Given the description of an element on the screen output the (x, y) to click on. 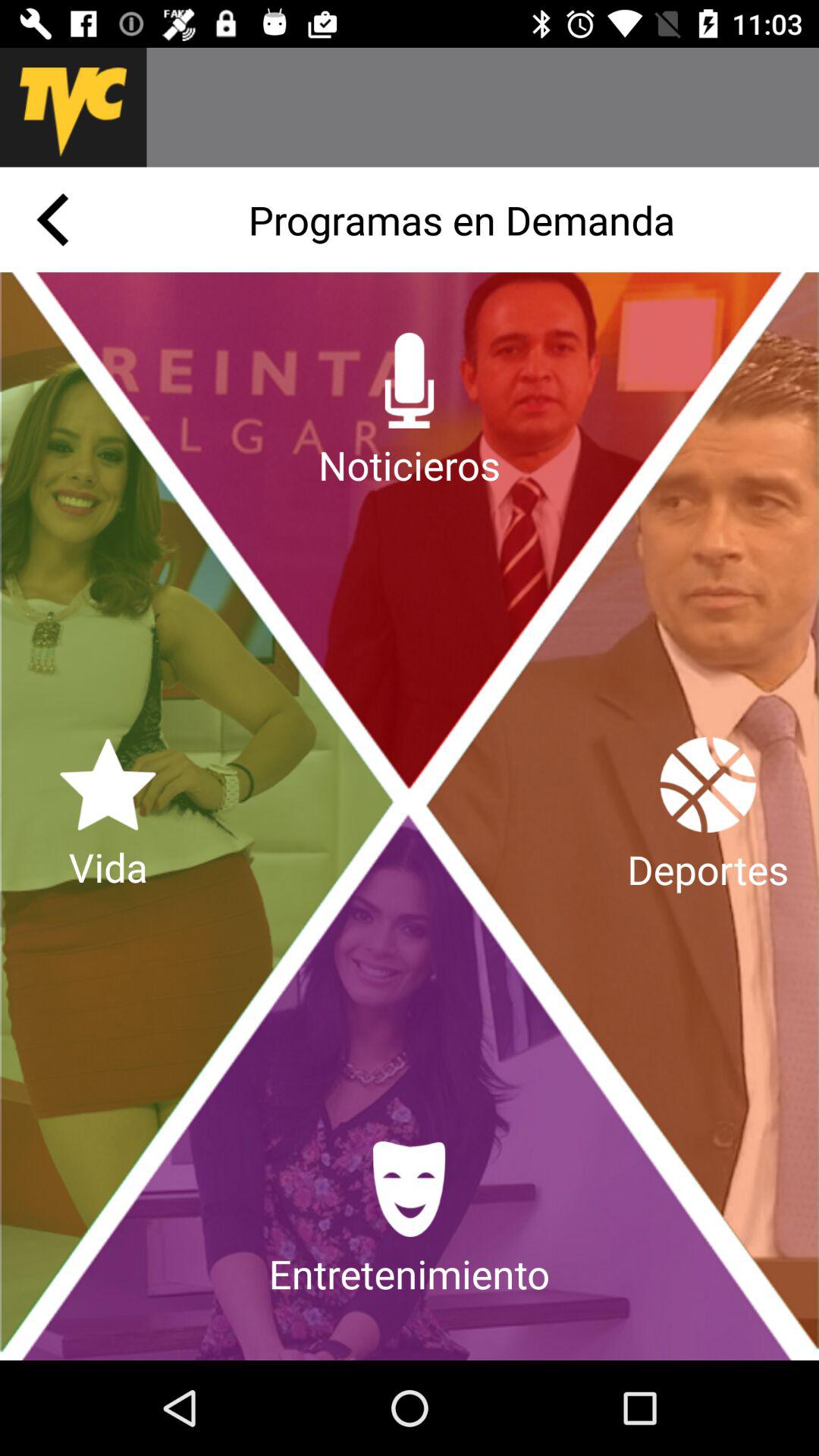
turn off deportes icon (708, 815)
